Given the description of an element on the screen output the (x, y) to click on. 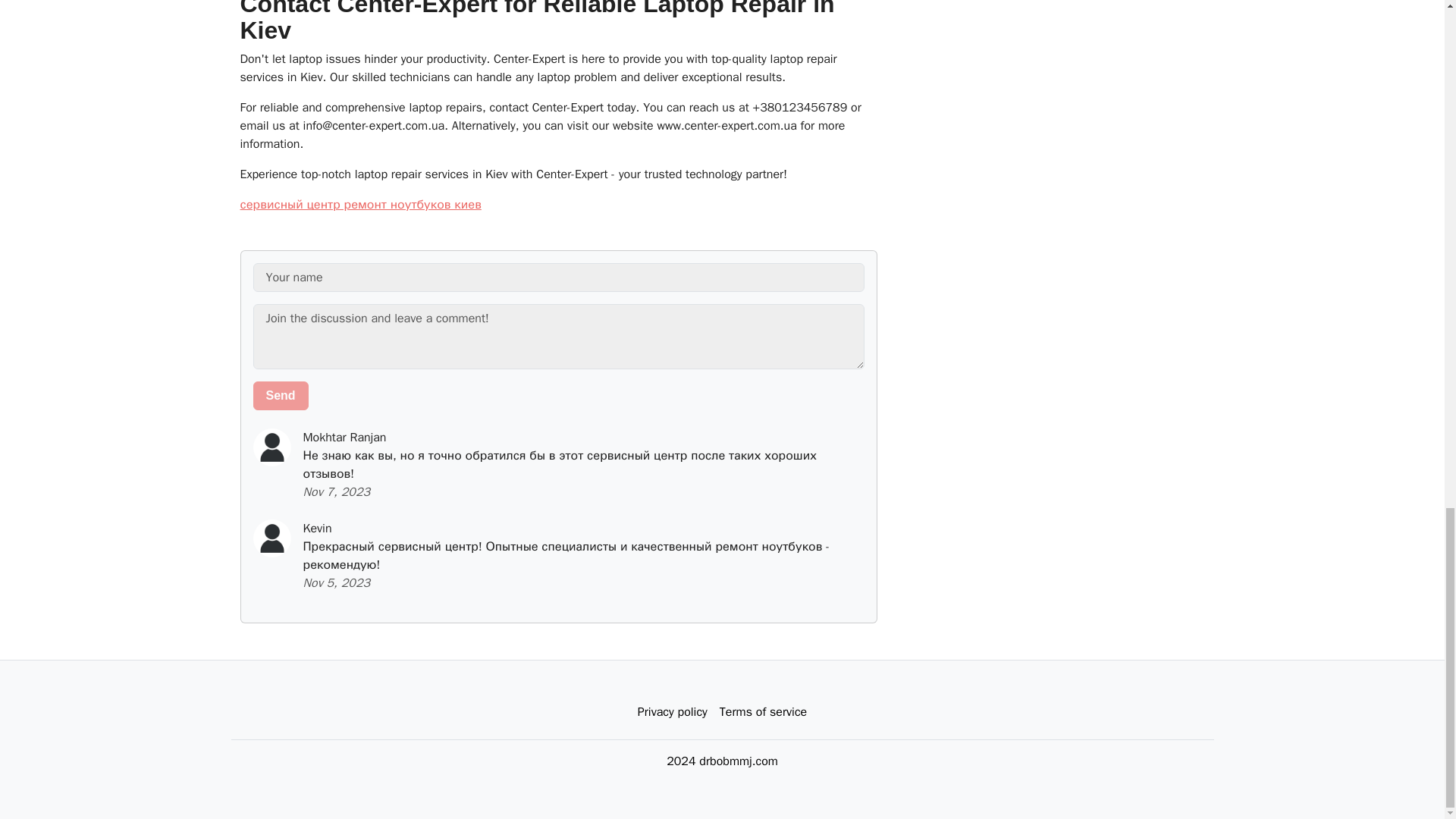
Send (280, 395)
Terms of service (762, 711)
Privacy policy (672, 711)
Send (280, 395)
